Given the description of an element on the screen output the (x, y) to click on. 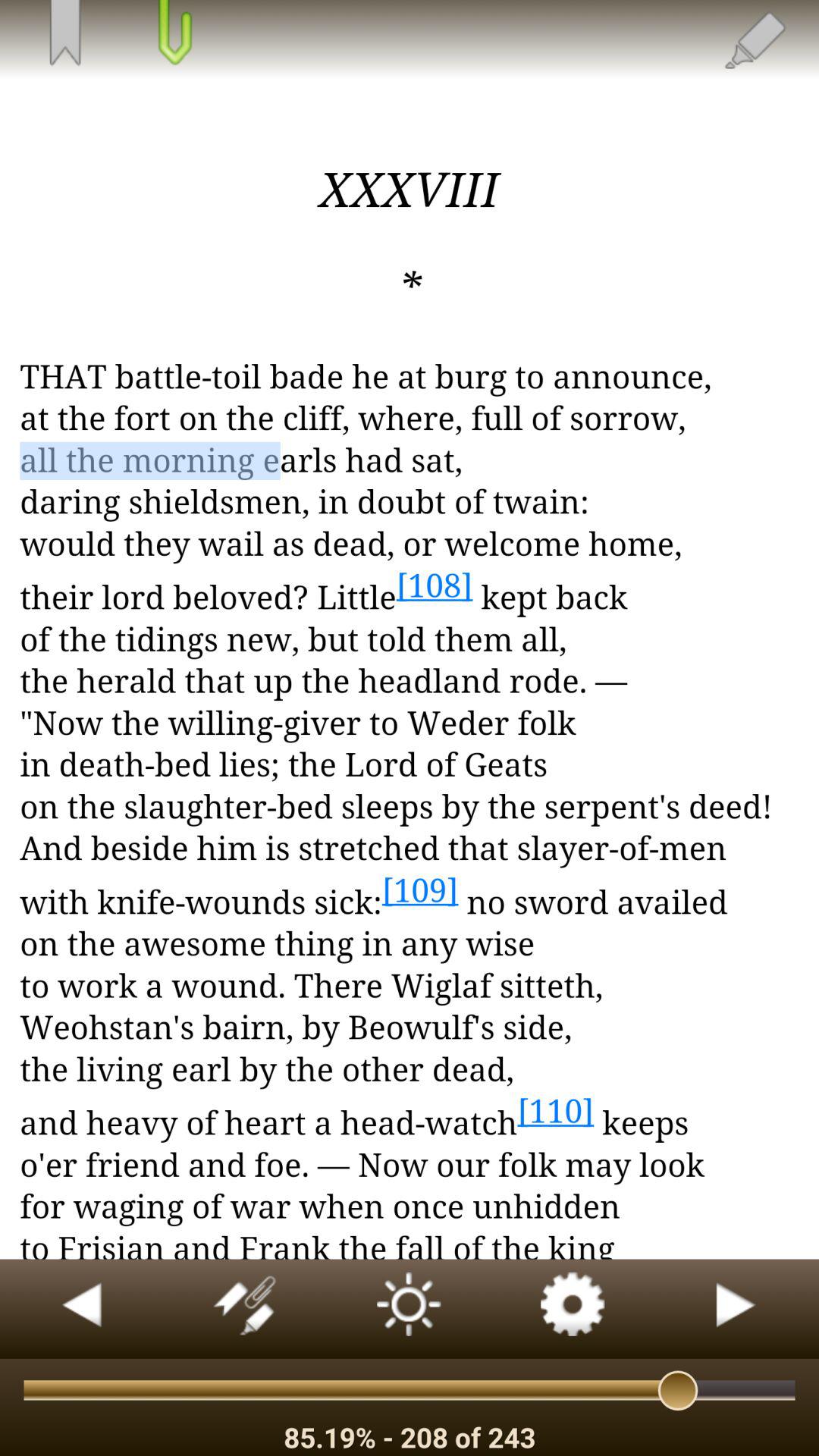
save (64, 34)
